Given the description of an element on the screen output the (x, y) to click on. 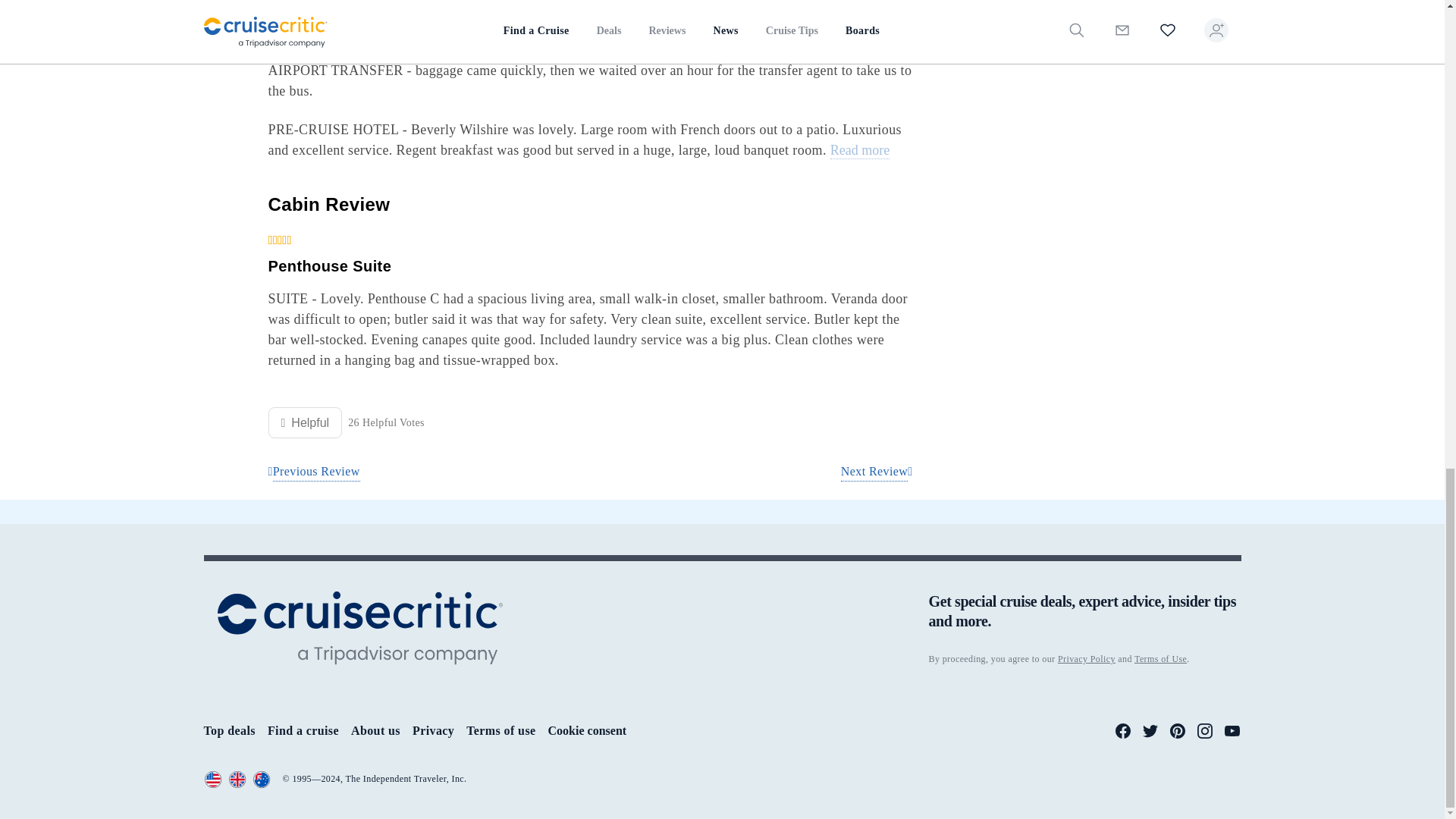
Previous Review (313, 471)
Read more (859, 150)
Next Review (876, 471)
Terms of Use (1160, 658)
Helpful (304, 422)
Privacy Policy (1086, 658)
